Given the description of an element on the screen output the (x, y) to click on. 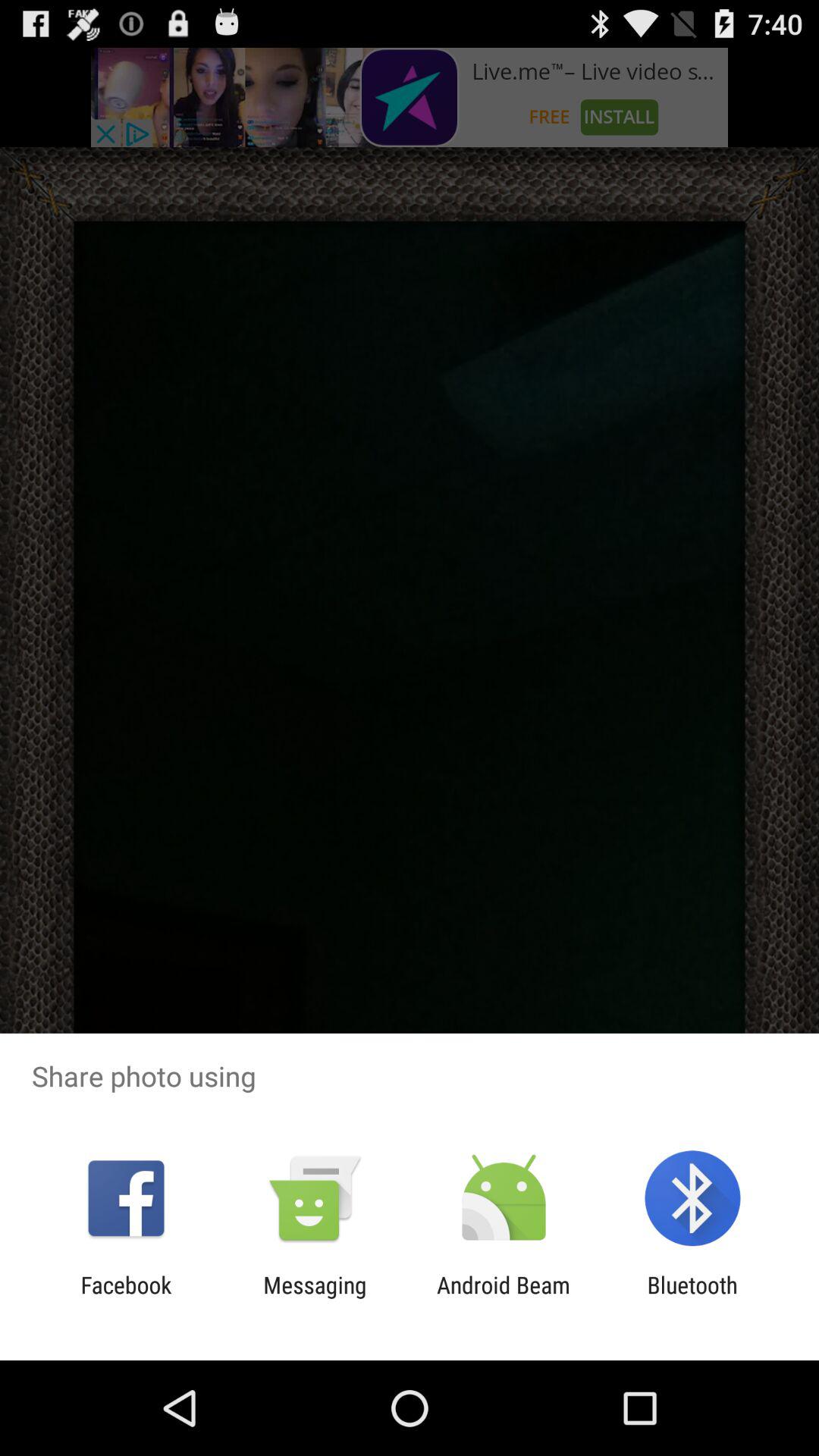
launch item next to the bluetooth icon (503, 1298)
